Given the description of an element on the screen output the (x, y) to click on. 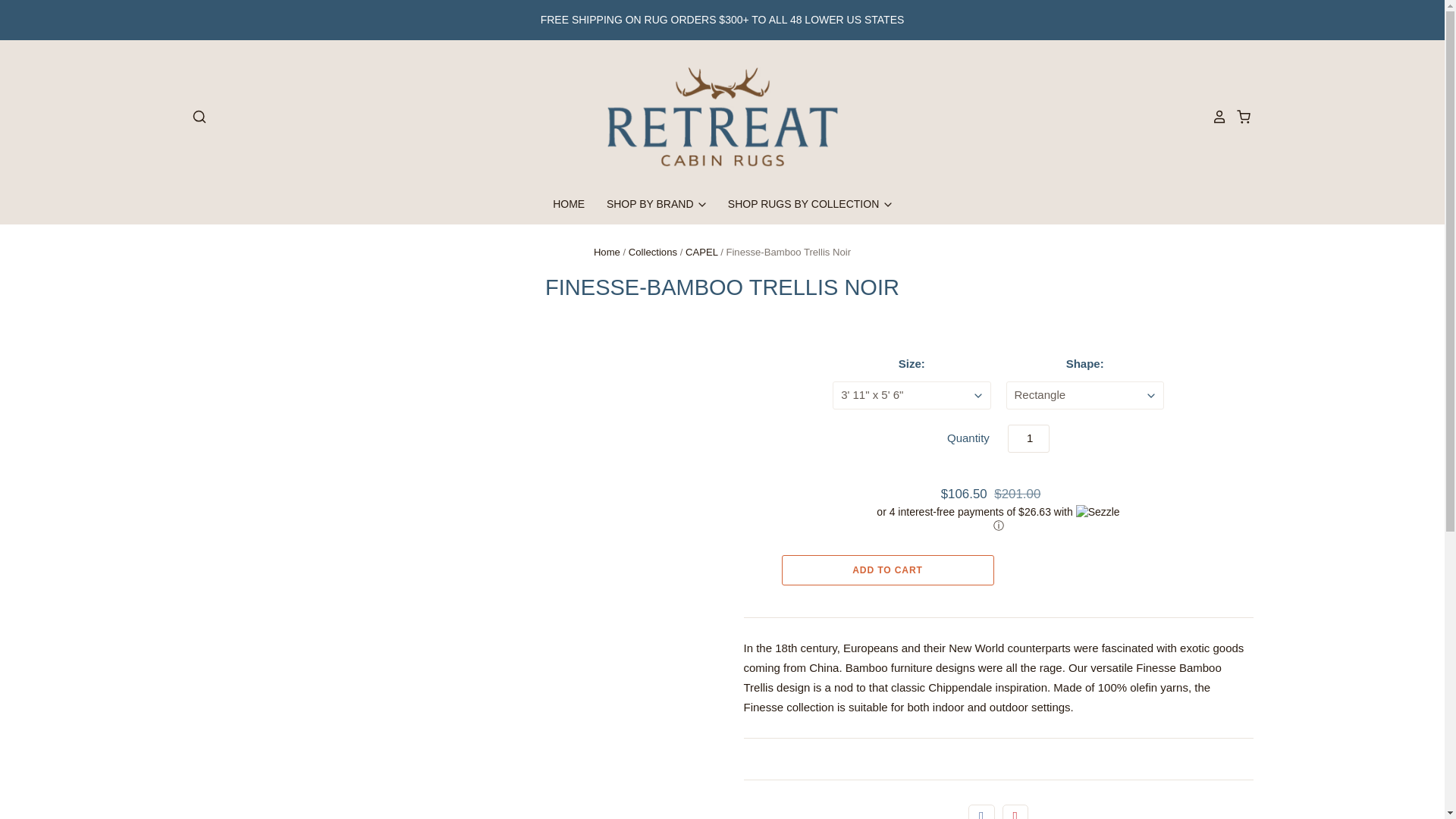
1 (1028, 438)
Add to cart (886, 570)
